Given the description of an element on the screen output the (x, y) to click on. 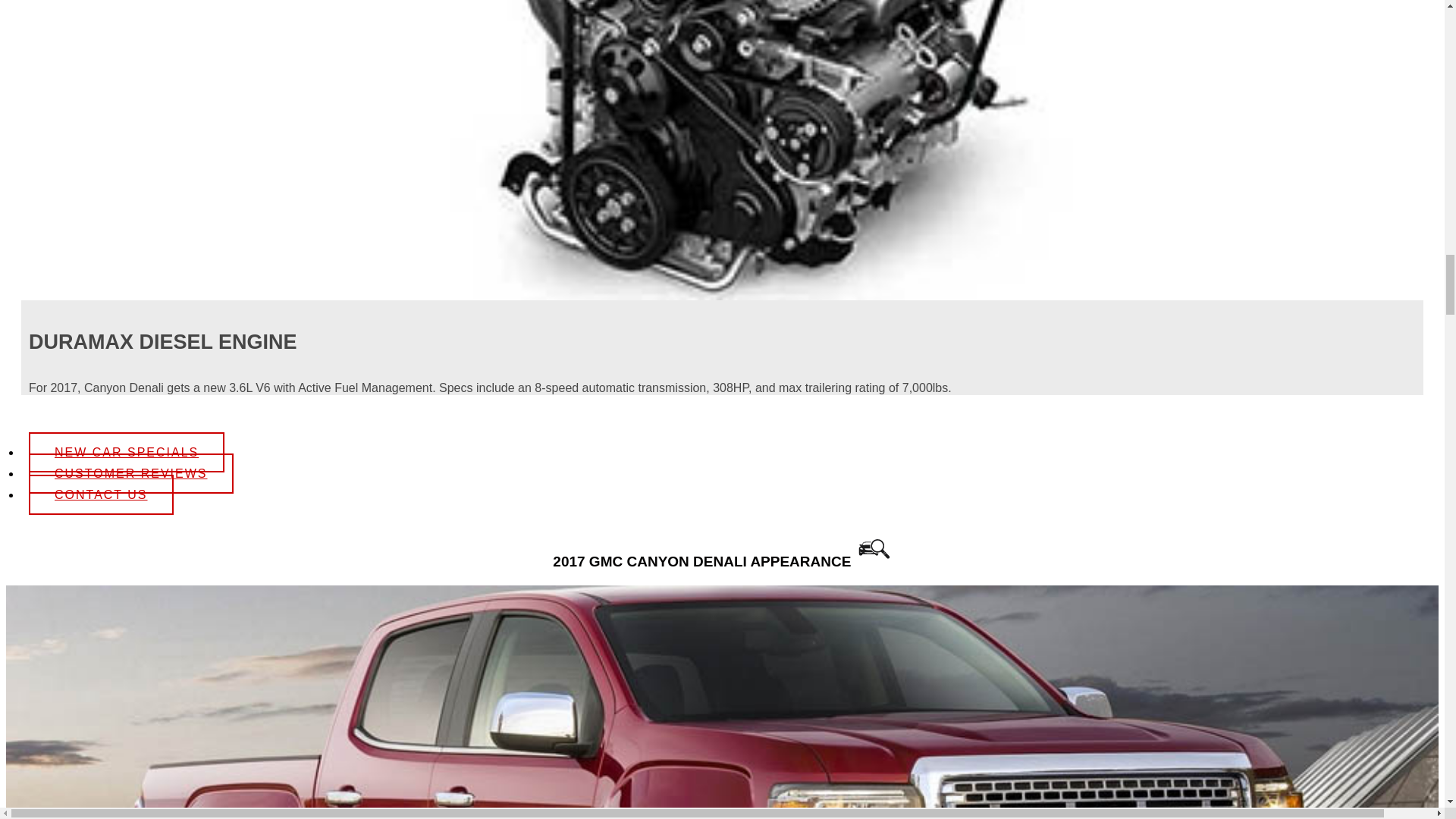
2024 SIERRA EV (149, 626)
2024 SIERRA 1500 (149, 98)
2024 SIERRA 1500 DENALI (149, 450)
2024 SIERRA HD (149, 768)
2024 SIERRA 1500 AT4 (149, 274)
2024 HUMMER EV PICKUP (149, 3)
